Given the description of an element on the screen output the (x, y) to click on. 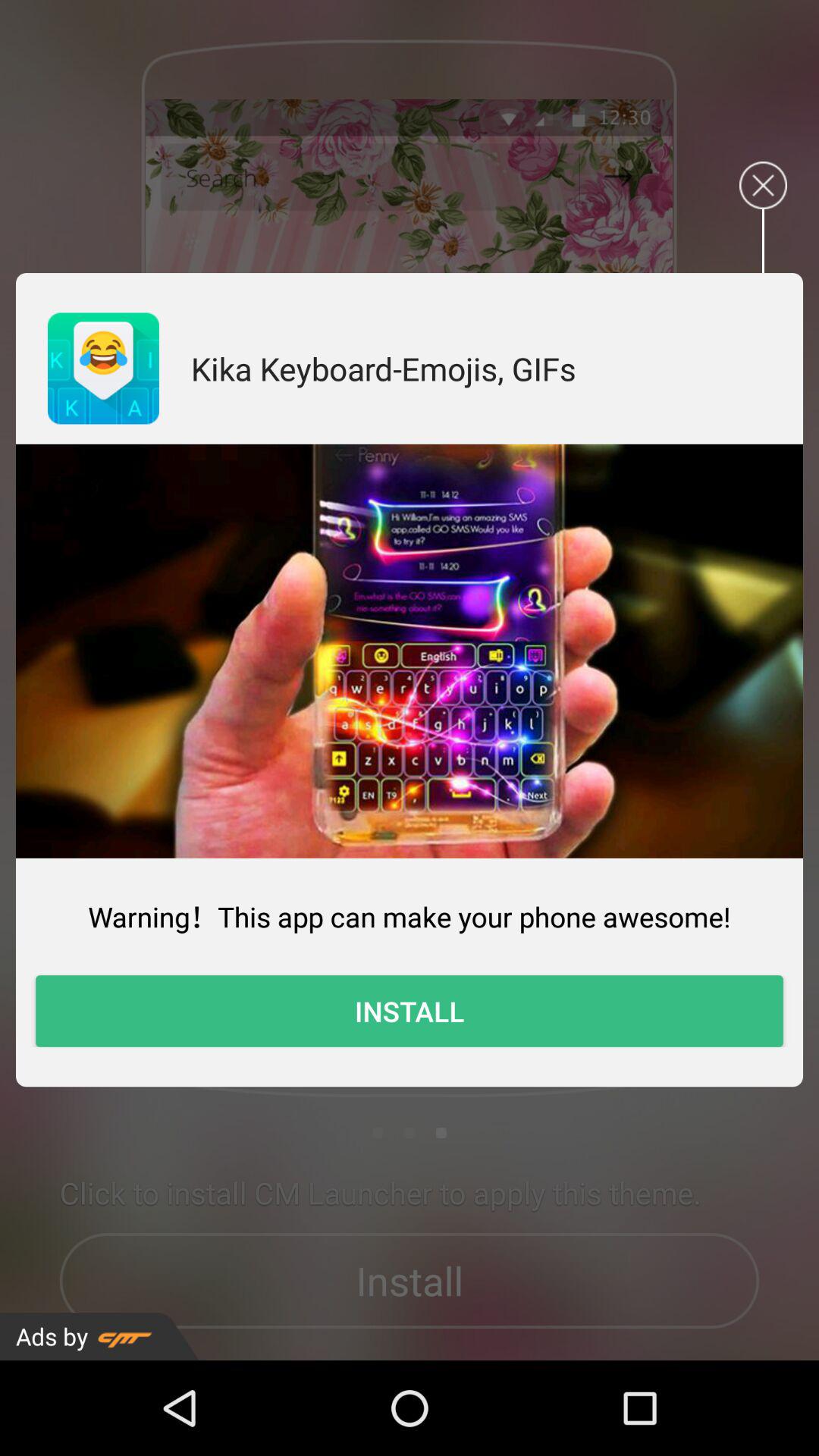
select icon above the ads by  item (409, 1011)
